Given the description of an element on the screen output the (x, y) to click on. 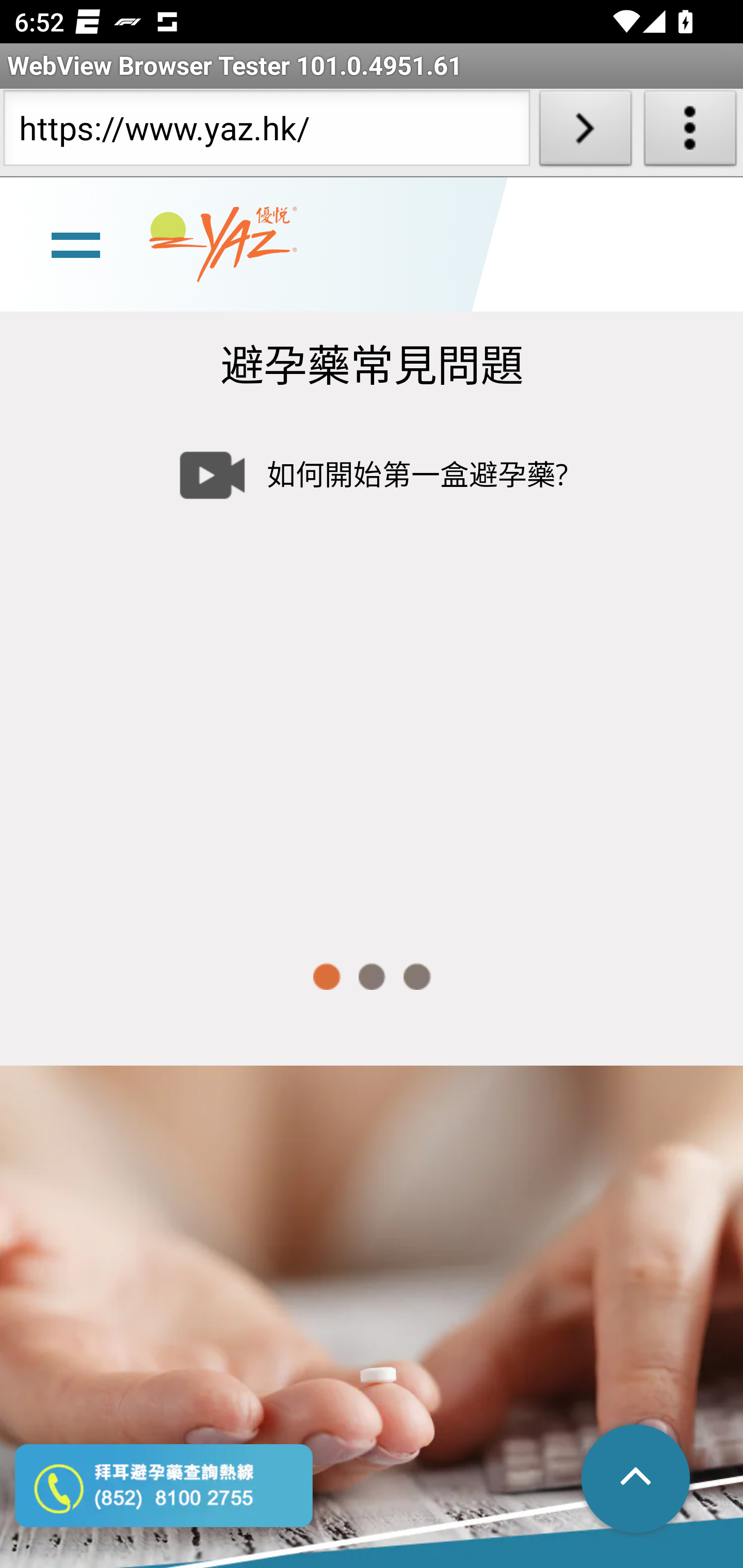
https://www.yaz.hk/ (266, 132)
Load URL (585, 132)
About WebView (690, 132)
www.yaz (222, 244)
line Toggle burger menu (75, 245)
slide 1 如何開始第一盒避孕藥? Video Player Video Player (371, 667)
slide 1 如何開始第一盒避孕藥? Video Player Video Player (371, 667)
1 of 3 (326, 977)
2 of 3 (371, 977)
3 of 3 (416, 977)
 (636, 1480)
